Given the description of an element on the screen output the (x, y) to click on. 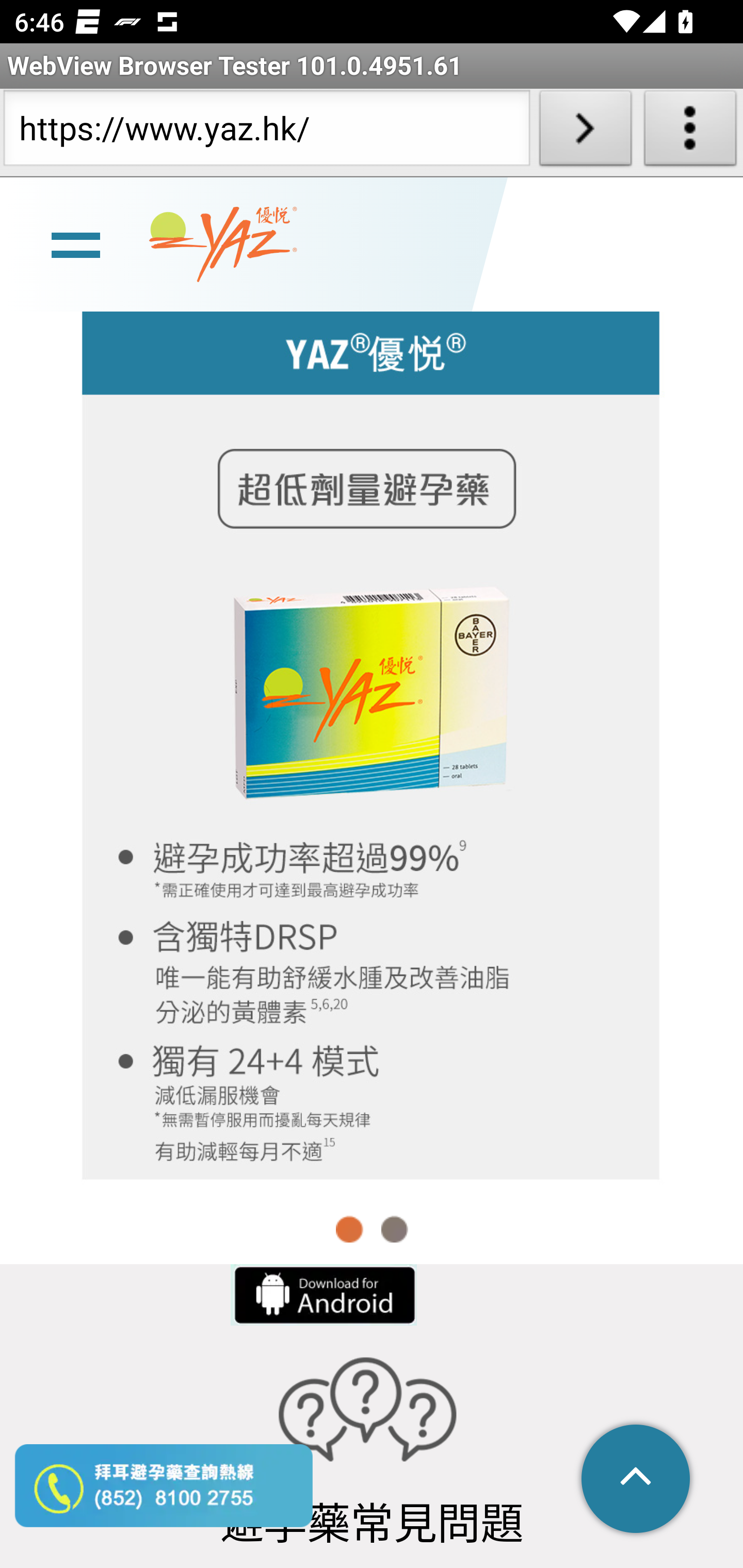
https://www.yaz.hk/ (266, 132)
Load URL (585, 132)
About WebView (690, 132)
www.yaz (222, 244)
line Toggle burger menu (75, 243)
slide 1 (371, 740)
1 of 2 (349, 1229)
2 of 2 (393, 1229)
details?id=com.bayer.ph (322, 1294)
 (636, 1480)
